Given the description of an element on the screen output the (x, y) to click on. 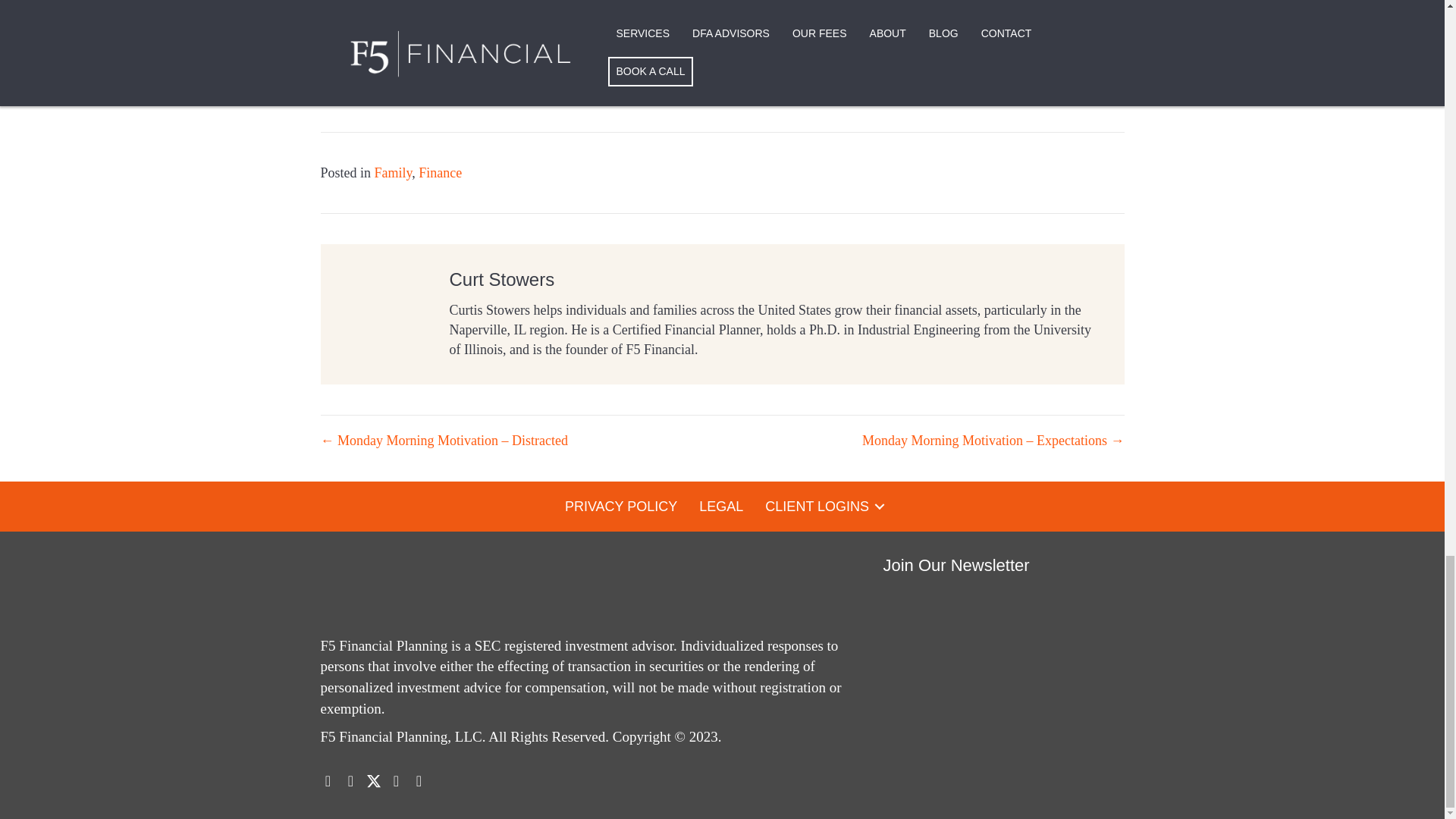
Subscribe (894, 61)
PRIVACY POLICY (620, 505)
Subscribe (894, 61)
Google Plus (395, 780)
LinkedIn (327, 780)
RSS (418, 780)
Finance (440, 172)
Family (393, 172)
Facebook (350, 780)
